Given the description of an element on the screen output the (x, y) to click on. 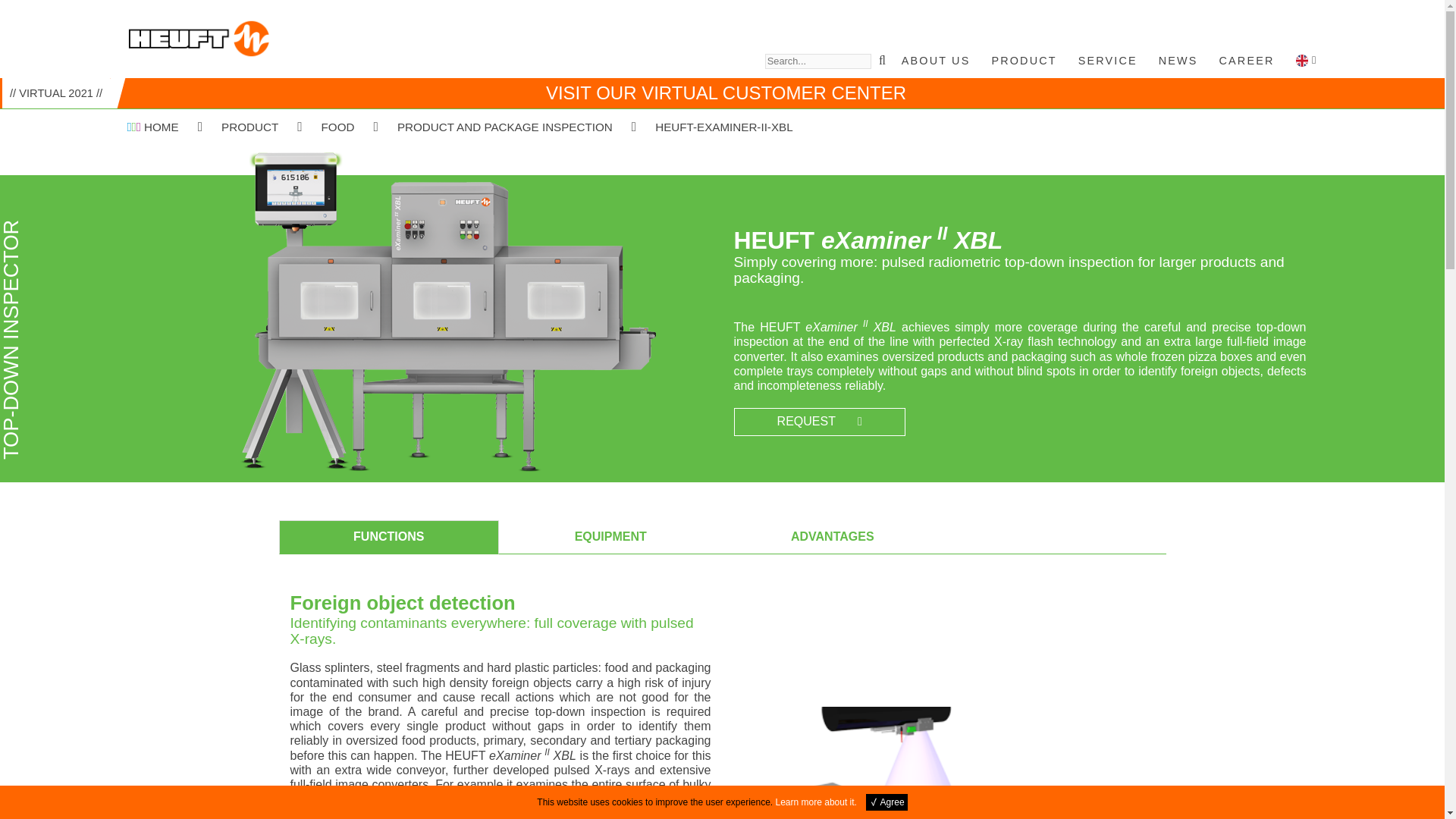
NEWS (1178, 60)
PRODUCT (1023, 60)
HOME (153, 126)
ABOUT US (935, 60)
SERVICE (1107, 60)
VISIT OUR VIRTUAL CUSTOMER CENTER (725, 92)
CAREER (1246, 60)
